Given the description of an element on the screen output the (x, y) to click on. 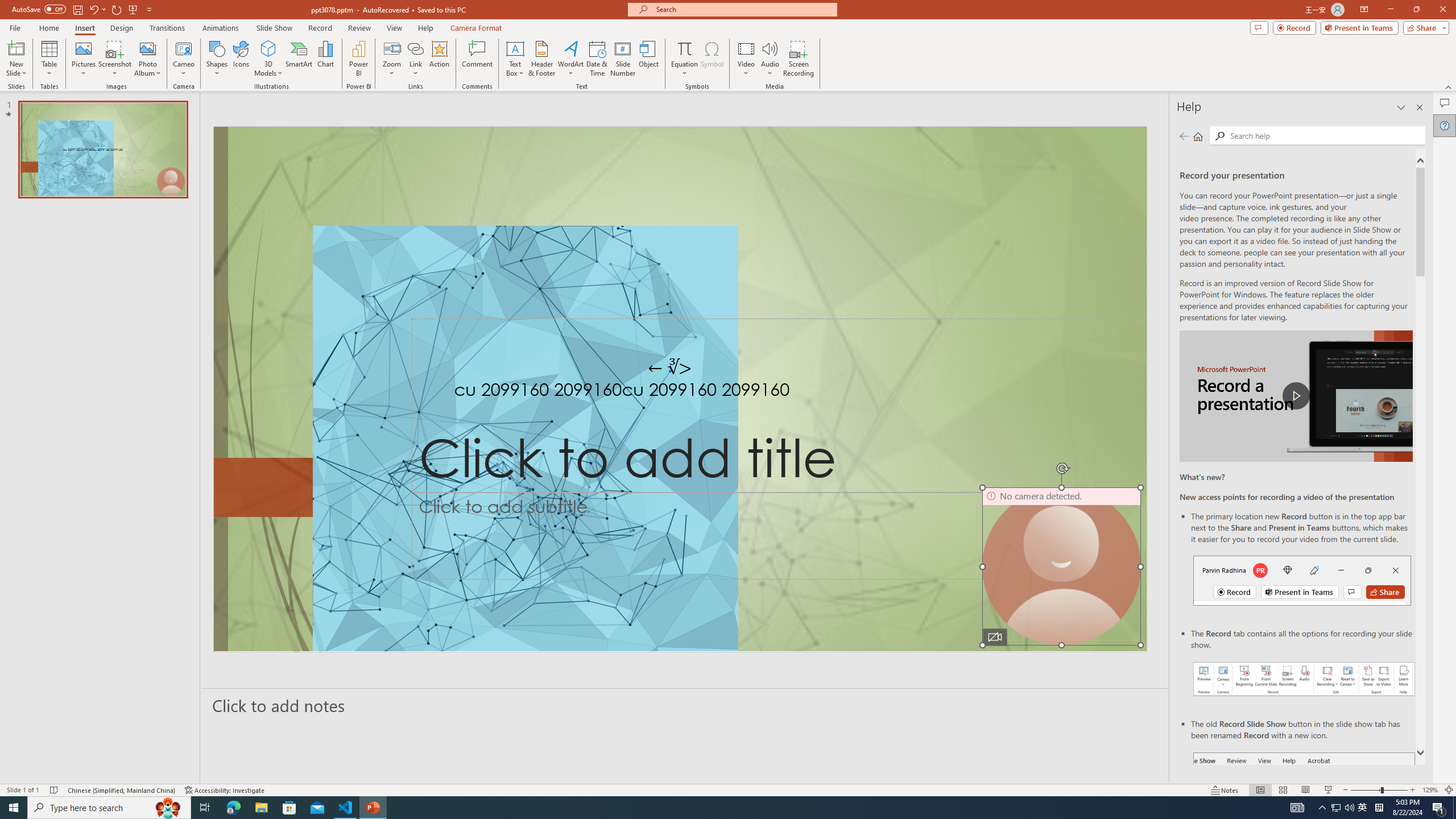
New Photo Album... (147, 48)
Previous page (1183, 136)
TextBox 61 (678, 391)
Record your presentations screenshot one (1304, 678)
Date & Time... (596, 58)
